Given the description of an element on the screen output the (x, y) to click on. 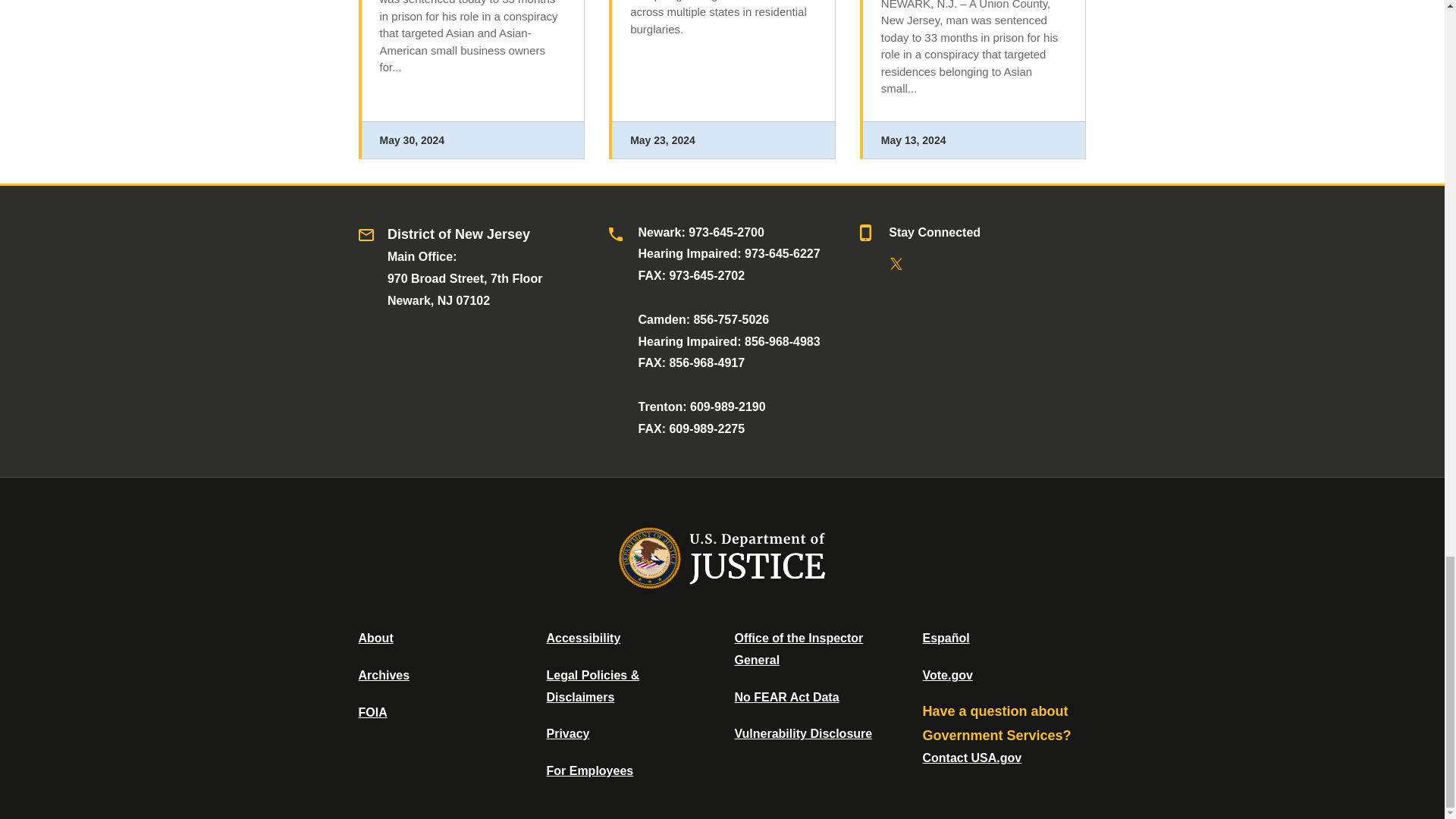
Legal Policies and Disclaimers (592, 686)
For Employees (589, 770)
Data Posted Pursuant To The No Fear Act (785, 697)
Office of Information Policy (372, 712)
Department of Justice Archive (383, 675)
About DOJ (375, 637)
Accessibility Statement (583, 637)
